Given the description of an element on the screen output the (x, y) to click on. 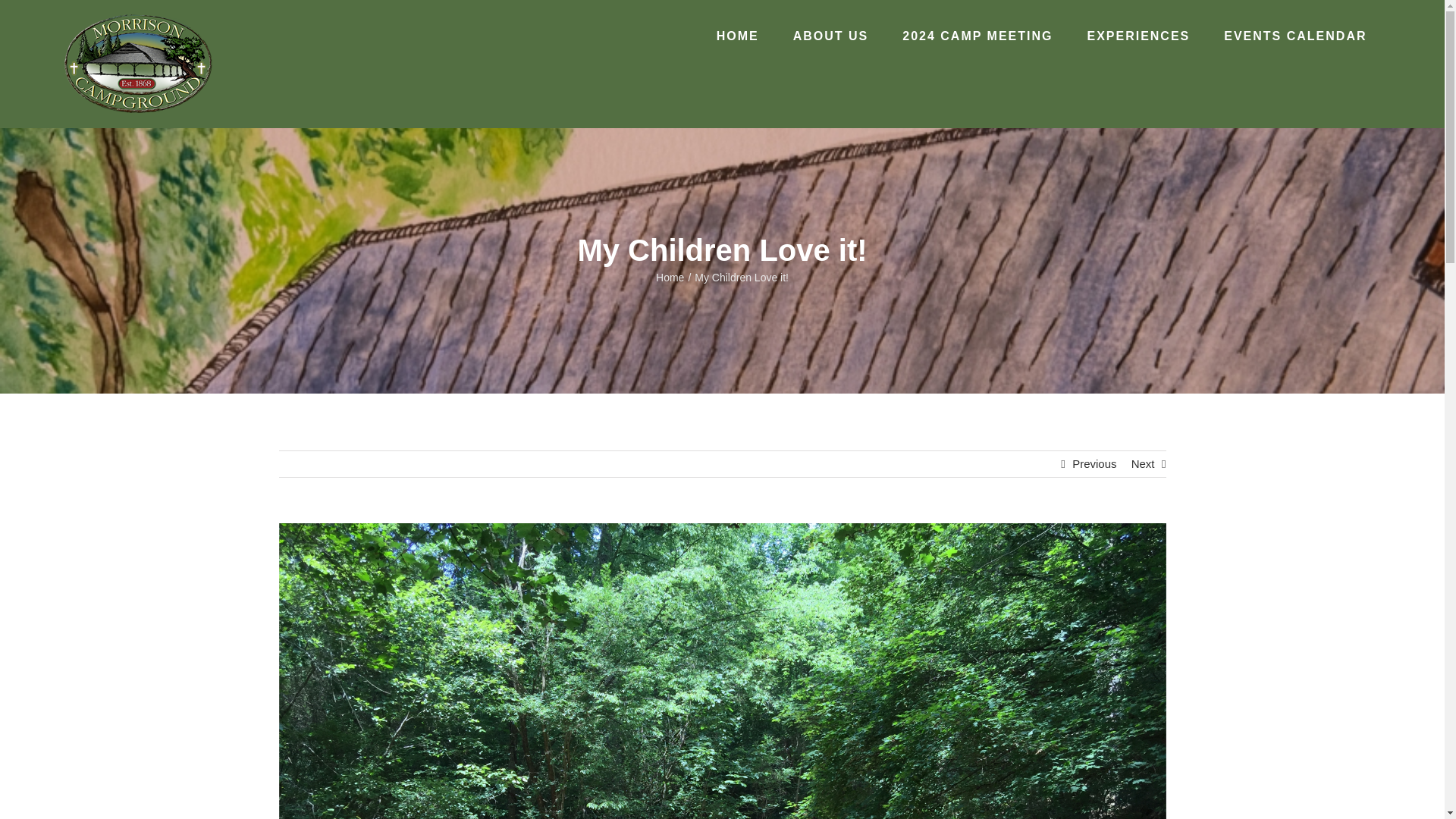
Next (1142, 463)
EVENTS CALENDAR (1295, 36)
HOME (737, 36)
Home (670, 277)
ABOUT US (830, 36)
EXPERIENCES (1138, 36)
2024 CAMP MEETING (977, 36)
Previous (1093, 463)
